Given the description of an element on the screen output the (x, y) to click on. 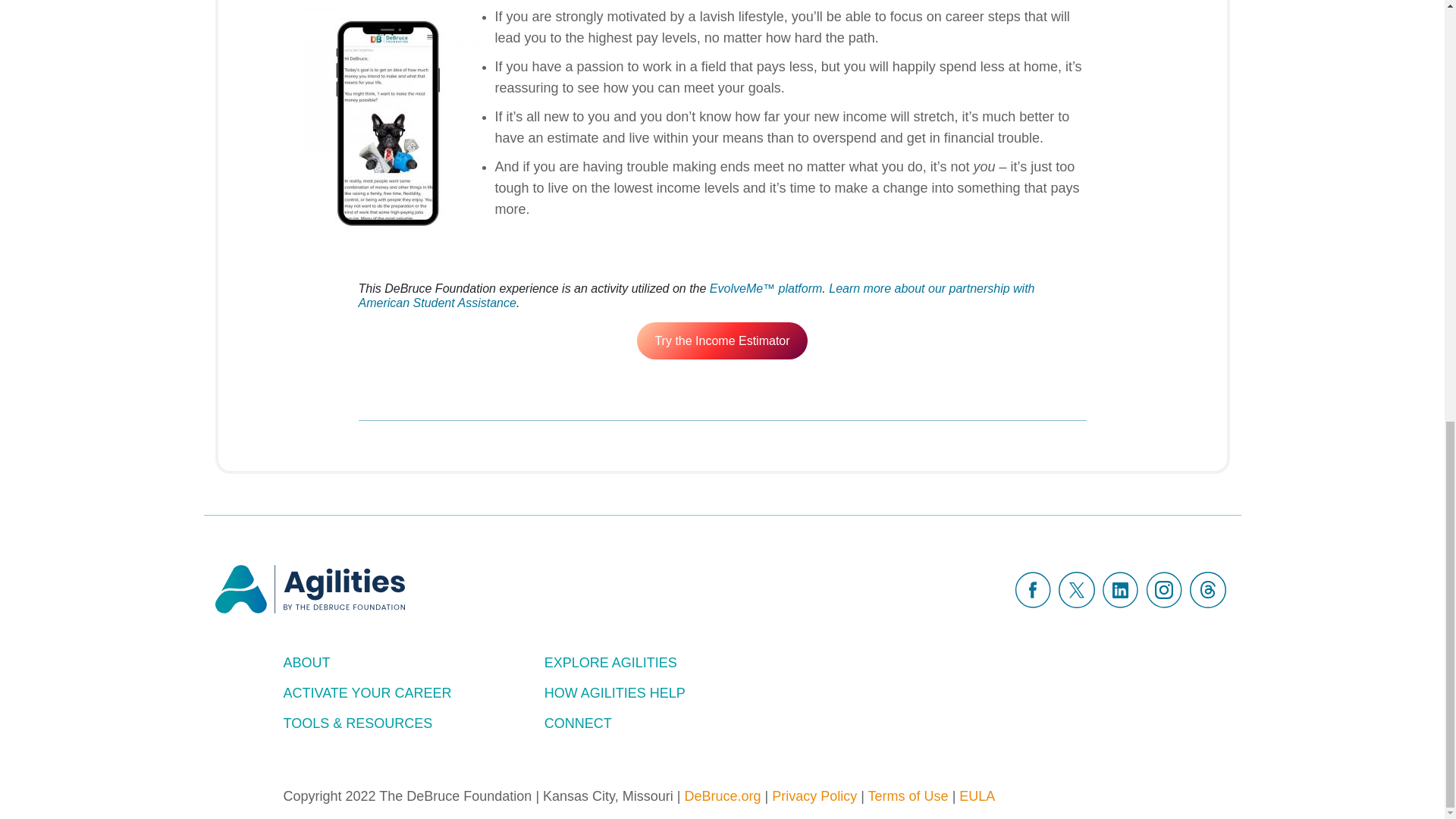
instagram (1162, 589)
Created with Sketch. (1032, 589)
Try the Income Estimator (722, 340)
Created with Sketch. (1120, 589)
